Given the description of an element on the screen output the (x, y) to click on. 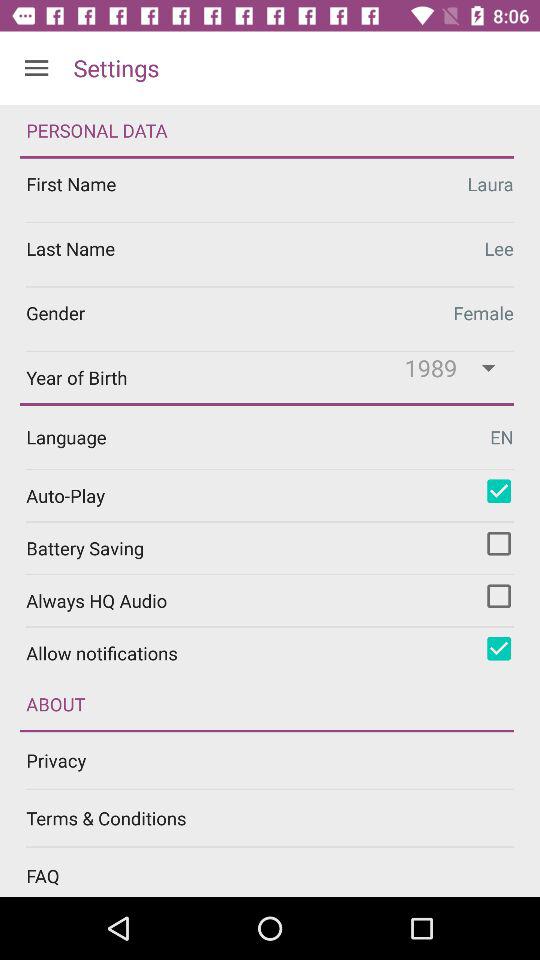
toggle autoplay option (499, 491)
